Given the description of an element on the screen output the (x, y) to click on. 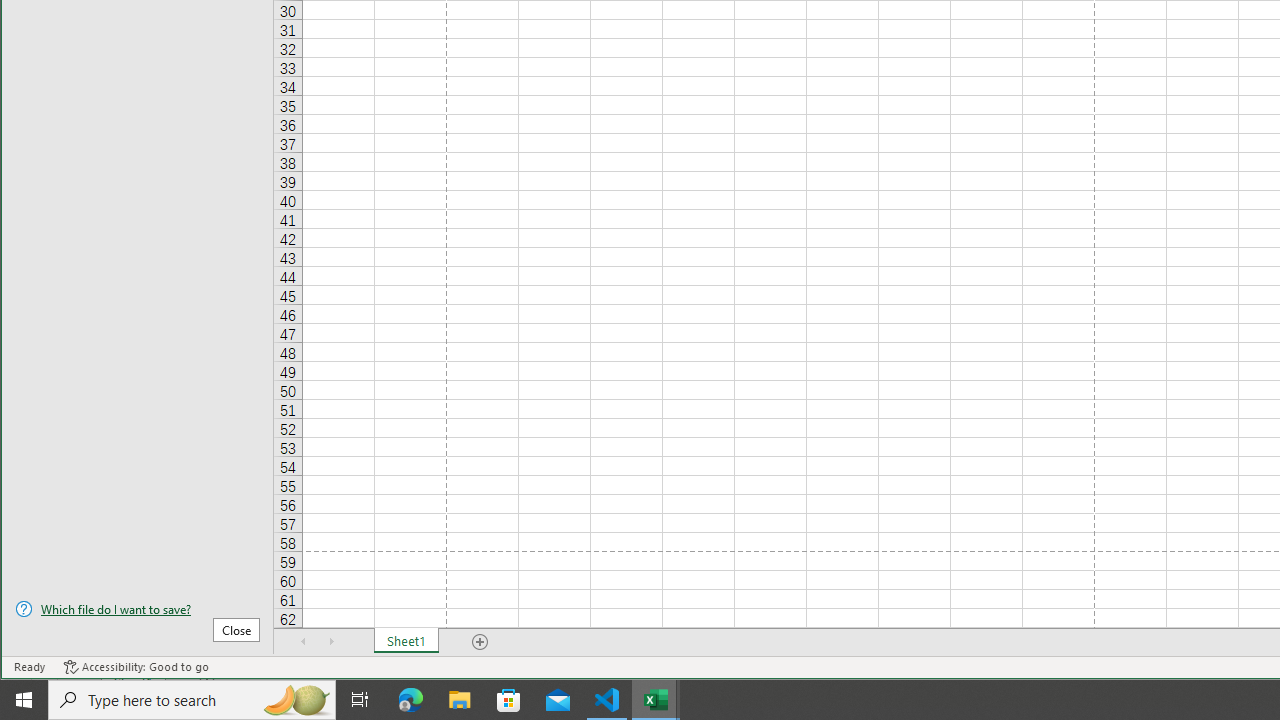
Scroll Left (303, 641)
Accessibility Checker Accessibility: Good to go (136, 667)
Excel - 2 running windows (656, 699)
File Explorer (460, 699)
Type here to search (191, 699)
Microsoft Store (509, 699)
Search highlights icon opens search home window (295, 699)
Start (24, 699)
Visual Studio Code - 1 running window (607, 699)
Scroll Right (331, 641)
Add Sheet (481, 641)
Which file do I want to save? (137, 609)
Close (235, 629)
Microsoft Edge (411, 699)
Task View (359, 699)
